Given the description of an element on the screen output the (x, y) to click on. 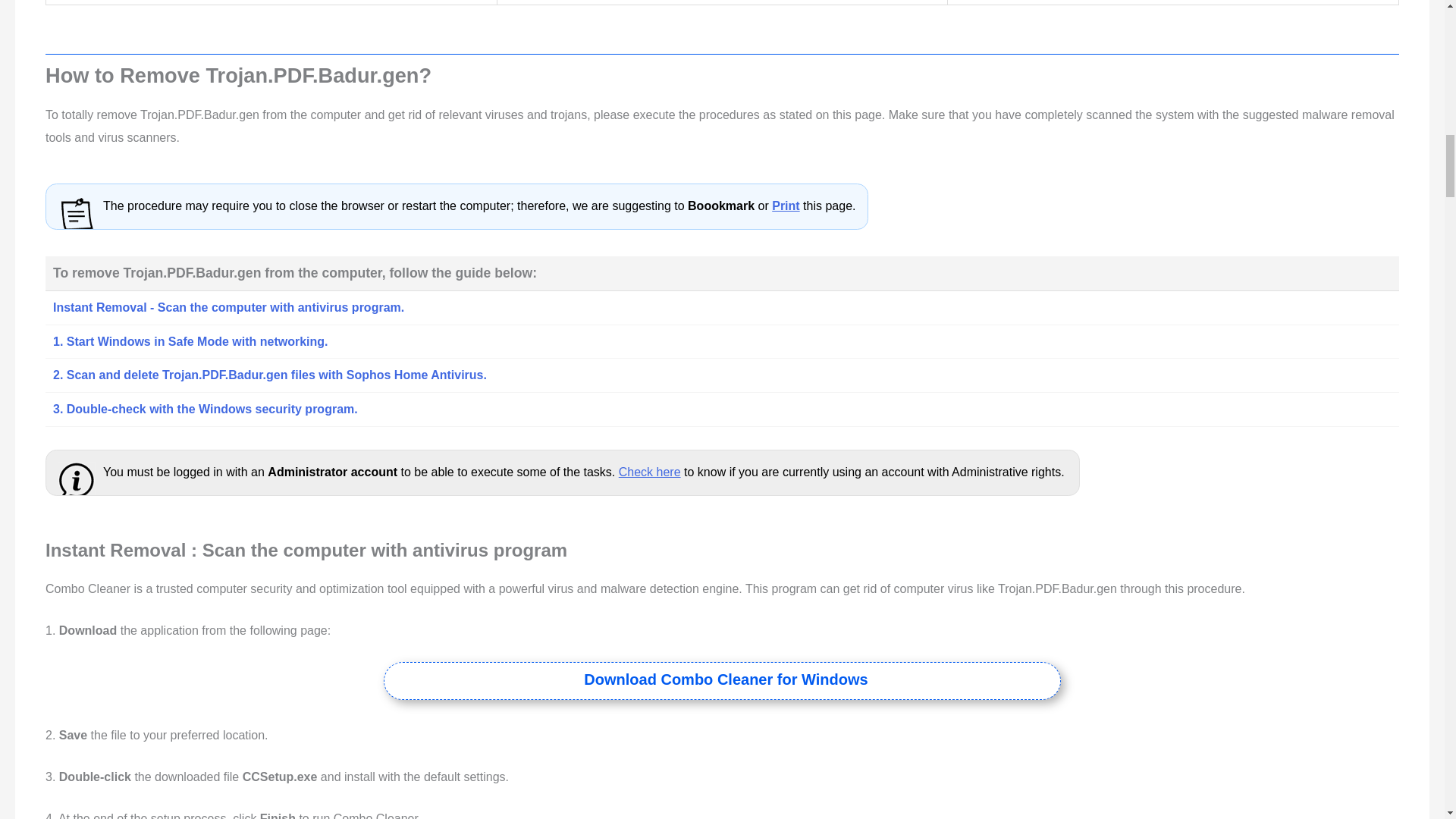
Download Combo Cleaner for Windows (725, 678)
Check here (649, 472)
3. Double-check with the Windows security program. (205, 408)
Print (785, 205)
1. Start Windows in Safe Mode with networking. (190, 341)
Get Combo Cleaner for Windows (725, 678)
Instant Removal - Scan the computer with antivirus program. (228, 307)
